Given the description of an element on the screen output the (x, y) to click on. 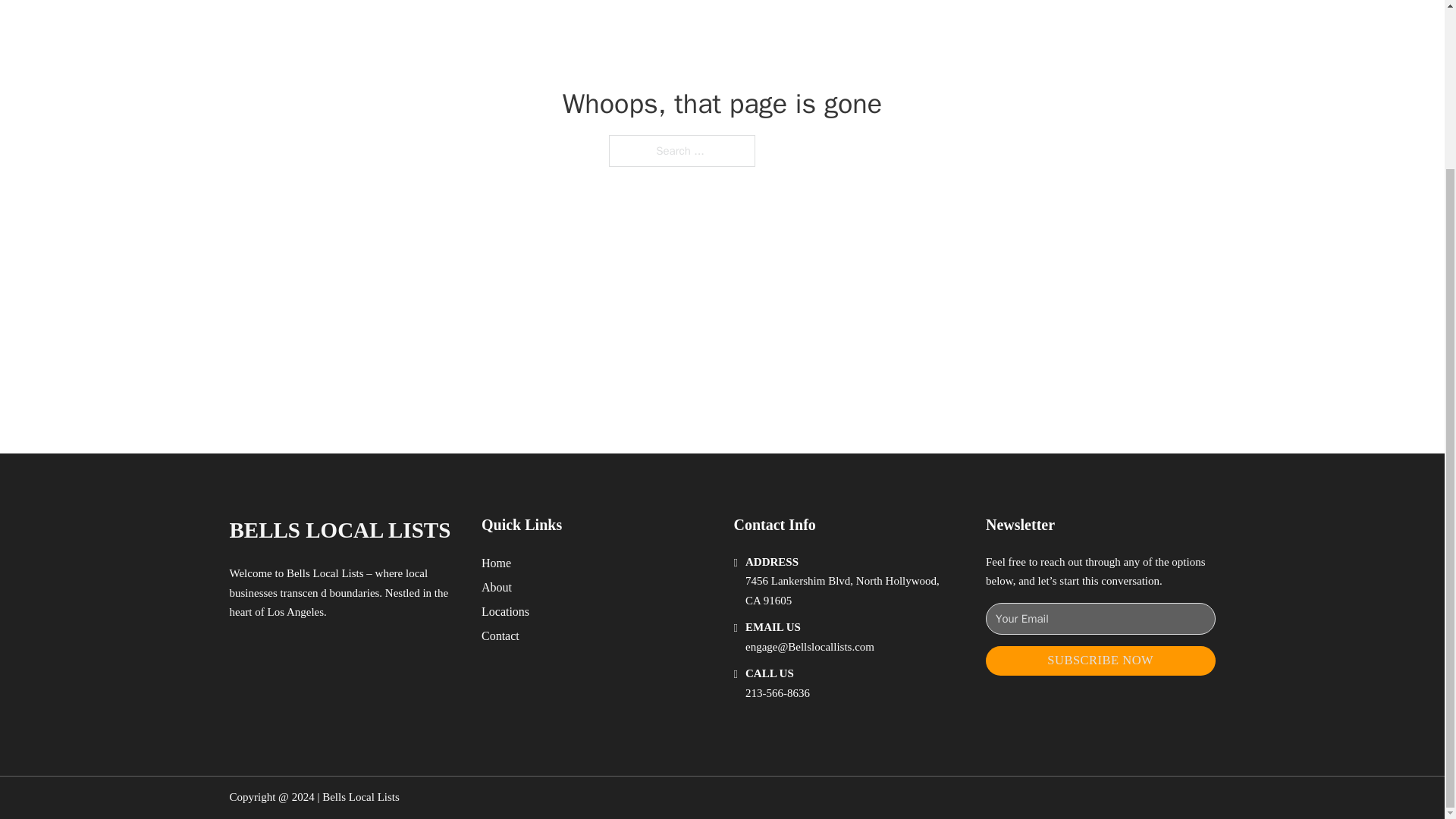
About (496, 587)
Locations (505, 611)
Home (496, 562)
SUBSCRIBE NOW (1100, 660)
213-566-8636 (777, 693)
BELLS LOCAL LISTS (338, 529)
Contact (500, 635)
